Given the description of an element on the screen output the (x, y) to click on. 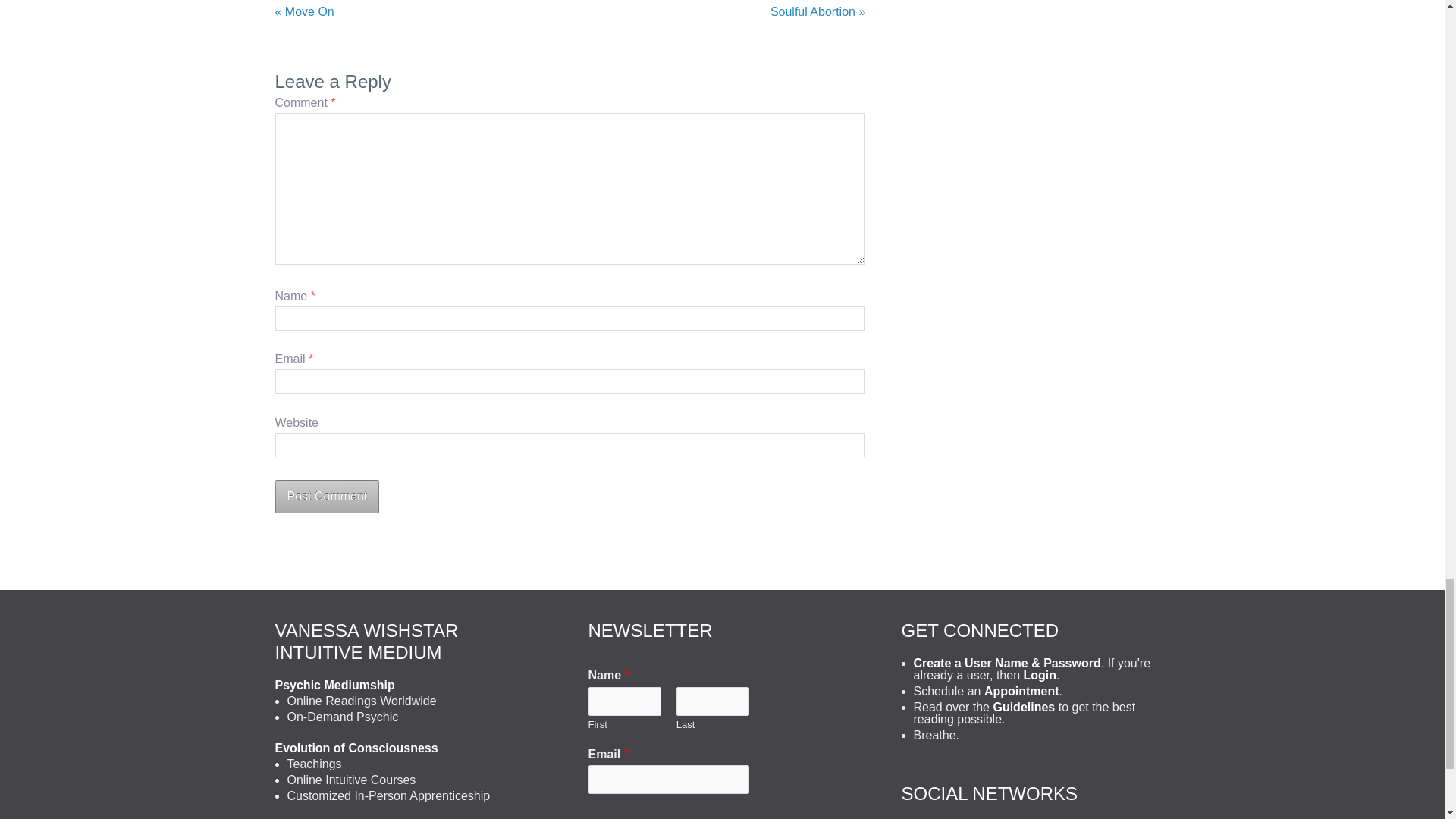
Post Comment (326, 496)
